Given the description of an element on the screen output the (x, y) to click on. 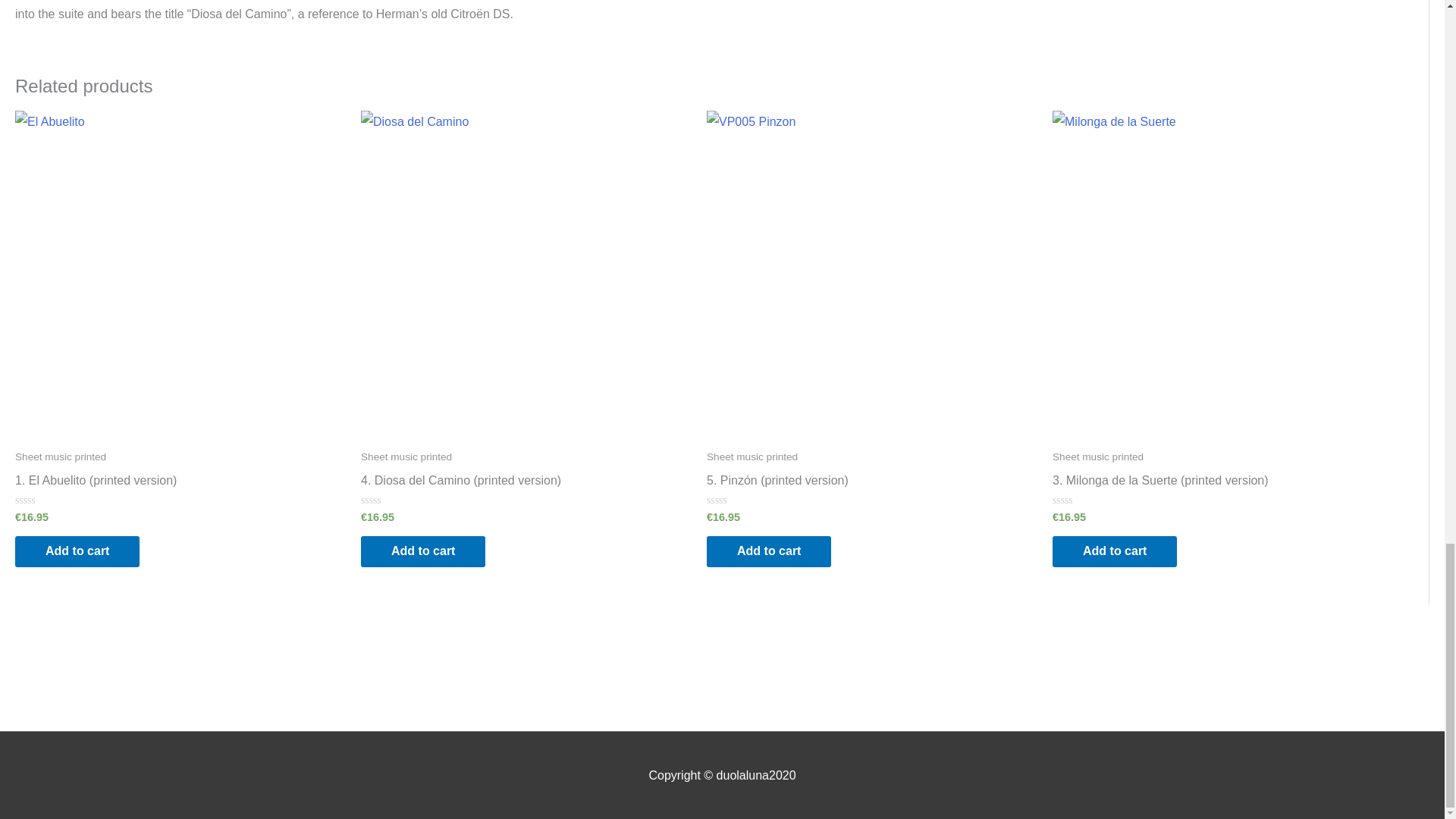
Add to cart (76, 551)
Add to cart (768, 551)
Add to cart (422, 551)
Add to cart (1114, 551)
